Given the description of an element on the screen output the (x, y) to click on. 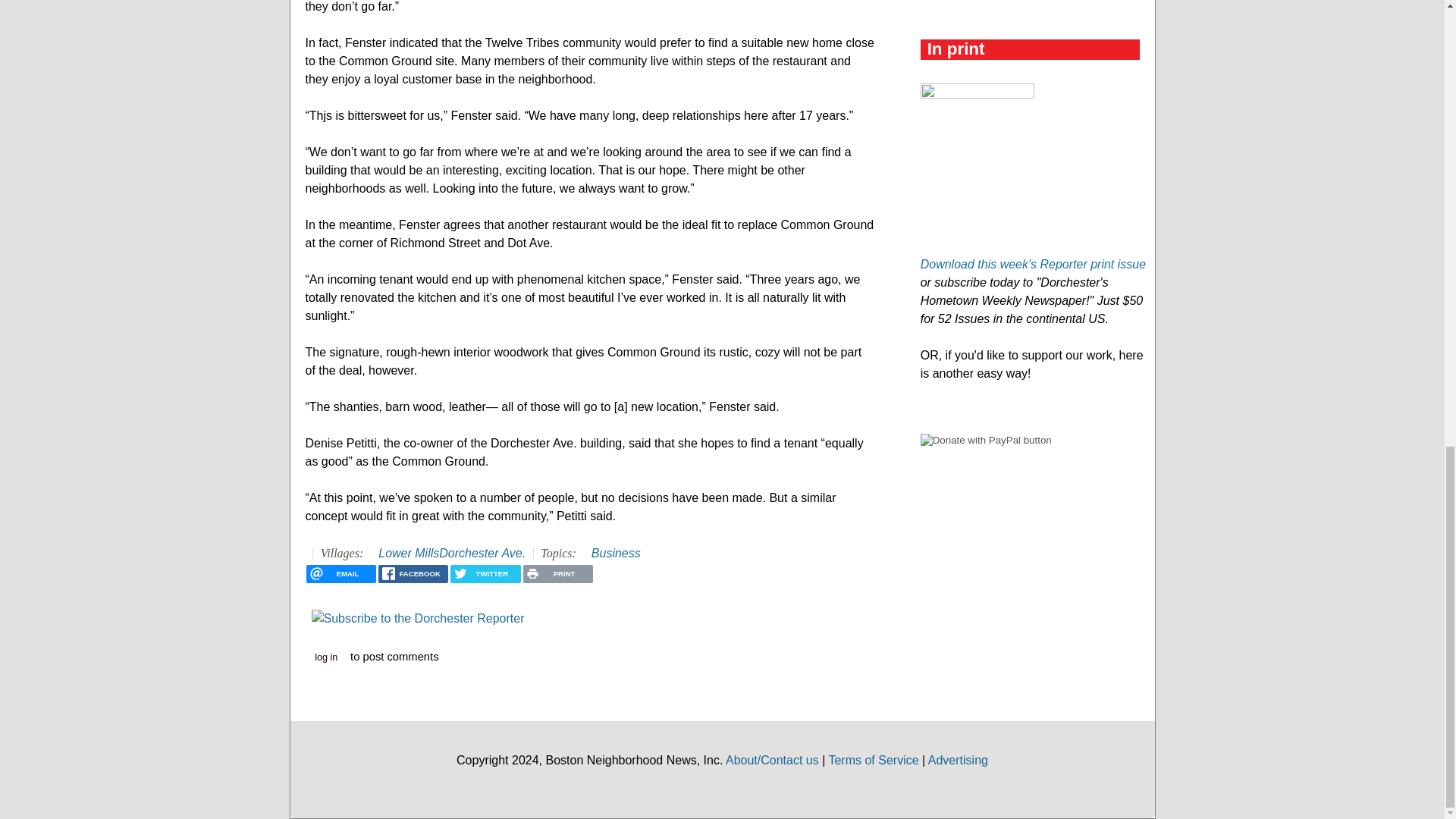
Business (615, 553)
Dorchester Ave. (482, 553)
Lower Mills (408, 553)
TWITTER (484, 574)
Advertising (958, 759)
PRINT (557, 574)
PayPal - The safer, easier way to pay online! (985, 440)
log in (325, 658)
Download this week's Reporter print issue (1032, 264)
EMAIL (340, 574)
